Given the description of an element on the screen output the (x, y) to click on. 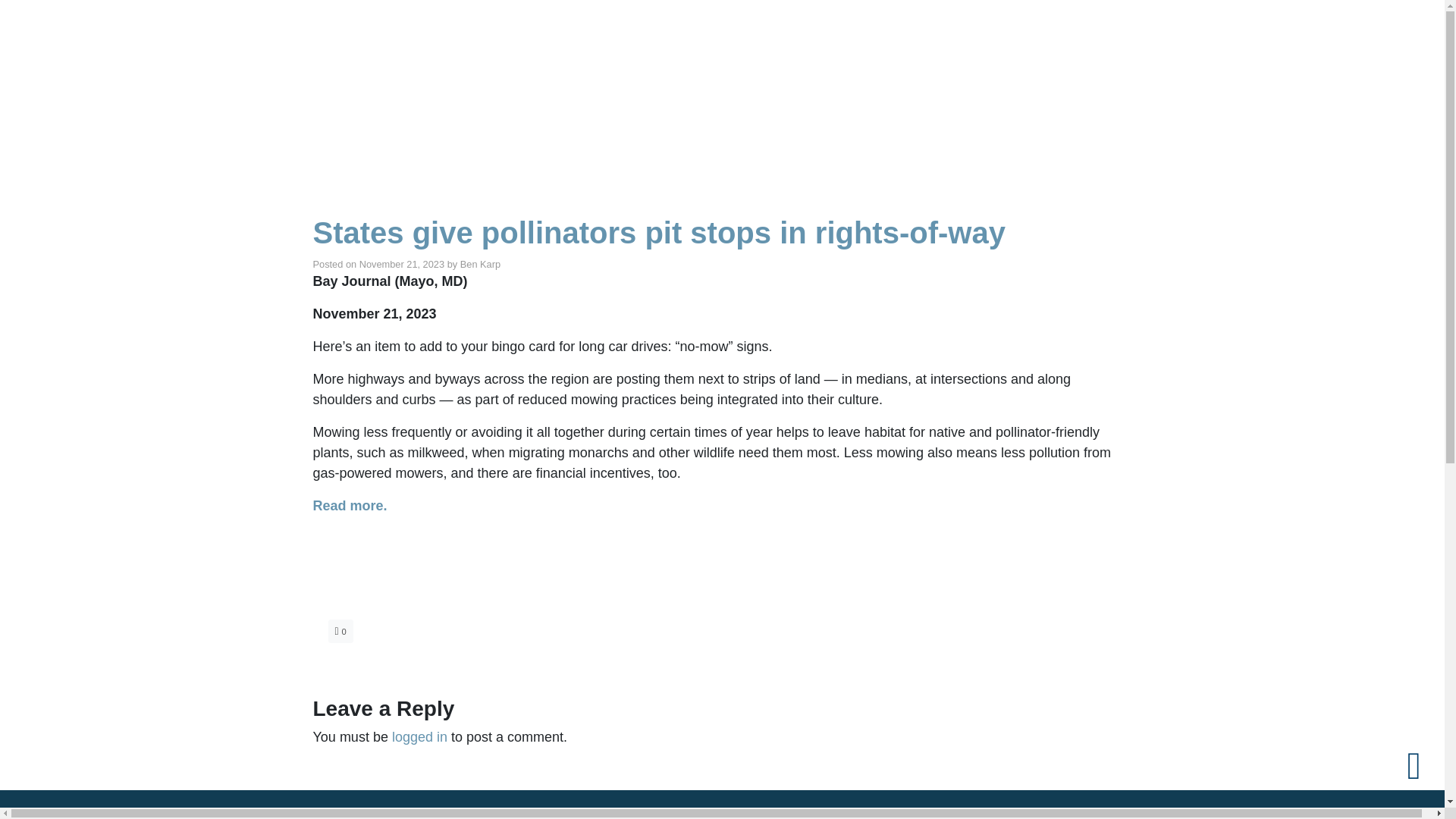
9:45 am (401, 263)
ABOUT (685, 92)
CONSERVATION BENEFIT AGREEMENTS (1157, 92)
Register (1326, 33)
Login (1271, 33)
Contact (1386, 33)
PROJECTS (1003, 92)
HOME (632, 92)
States give pollinators pit stops in rights-of-way (658, 231)
View all posts by Ben Karp (480, 263)
